Given the description of an element on the screen output the (x, y) to click on. 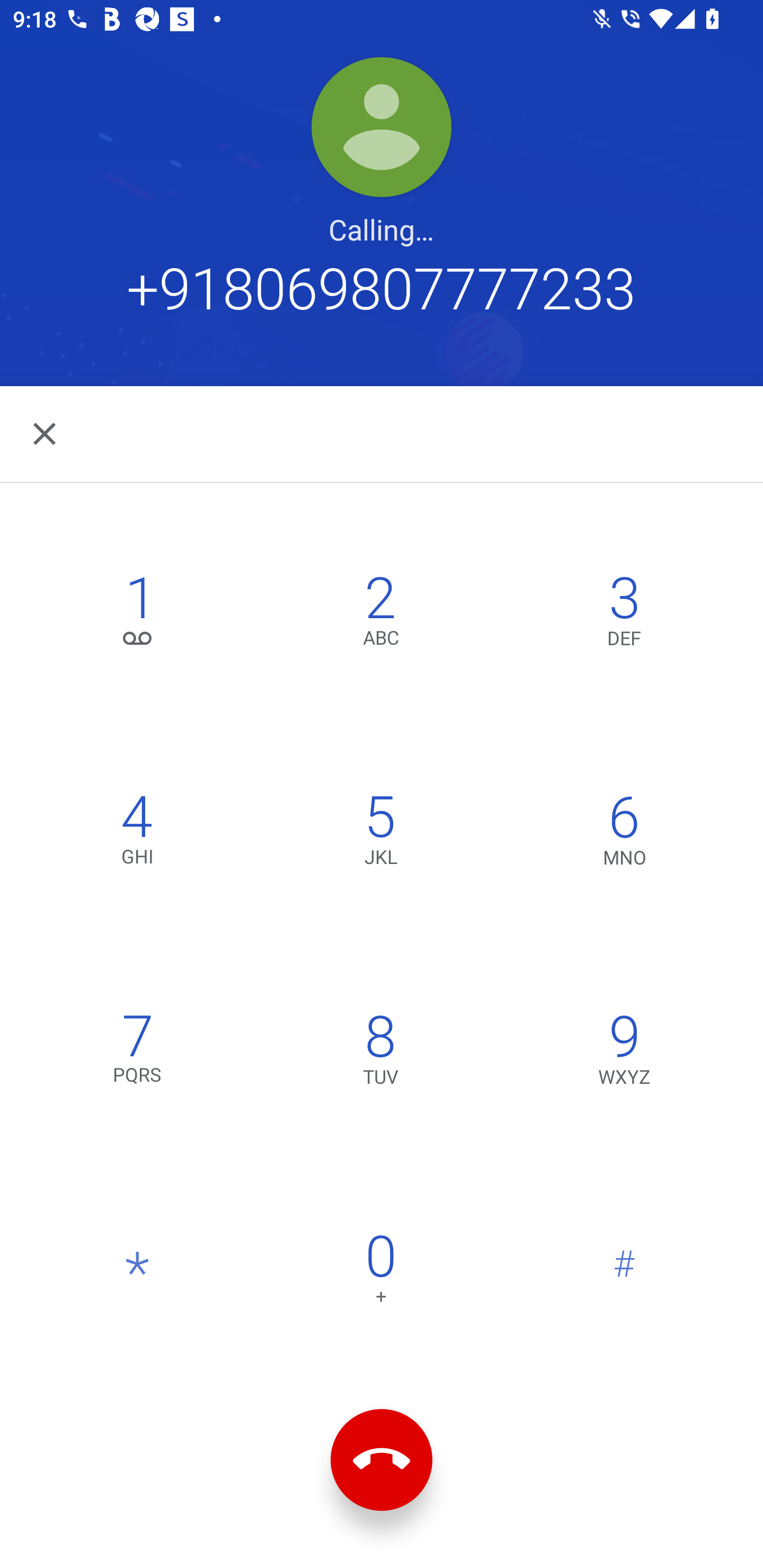
Navigate back (45, 433)
1, 1 (137, 614)
2,ABC 2 ABC (380, 614)
3,DEF 3 DEF (624, 614)
4,GHI 4 GHI (137, 833)
5,JKL 5 JKL (380, 833)
6,MNO 6 MNO (624, 833)
7,PQRS 7 PQRS (137, 1053)
8,TUV 8 TUV (380, 1053)
9,WXYZ 9 WXYZ (624, 1053)
* (137, 1272)
0 0 + (380, 1272)
# (624, 1272)
End call (381, 1460)
